Given the description of an element on the screen output the (x, y) to click on. 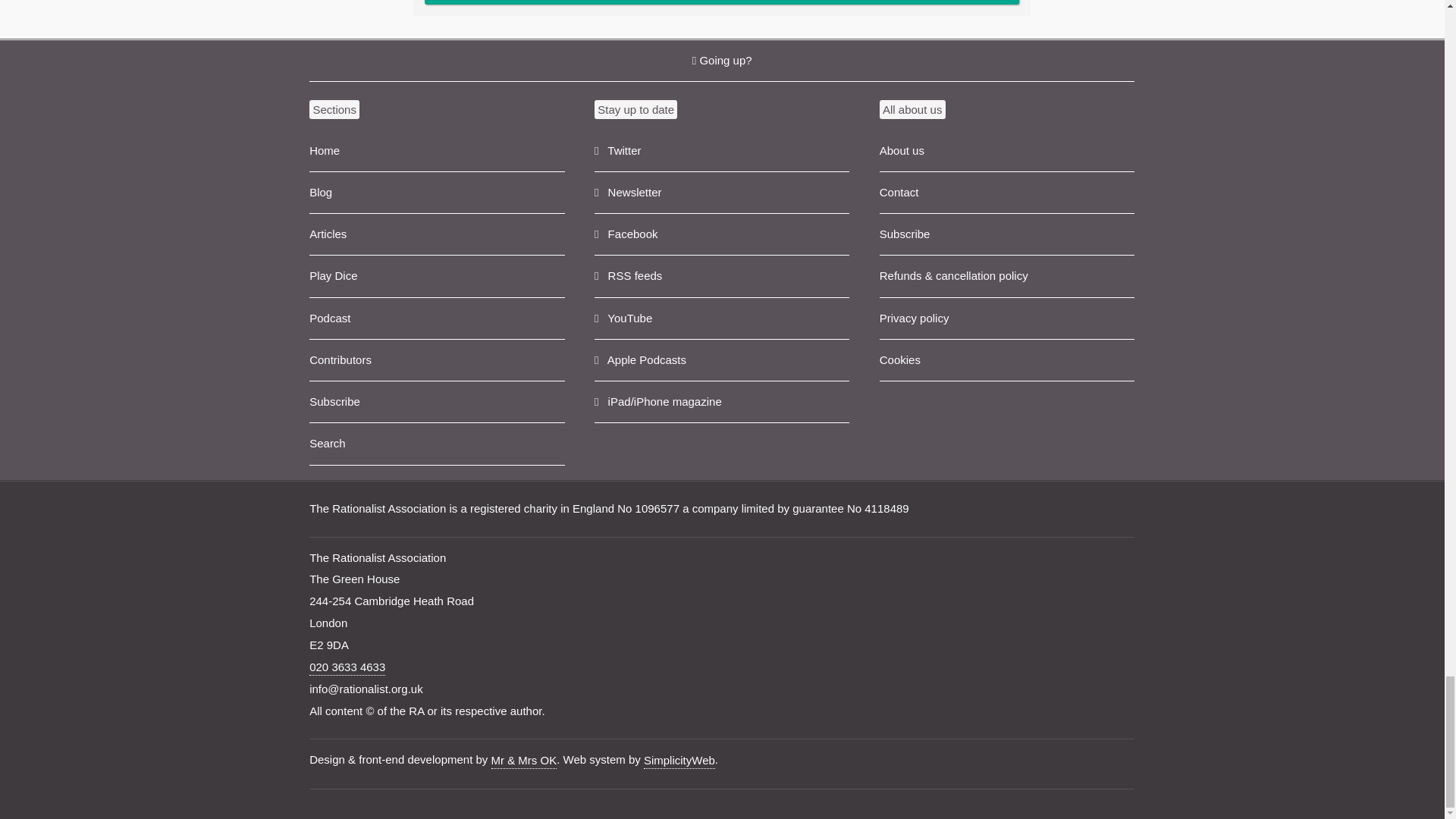
Podcast (436, 318)
About us (1006, 150)
Play Dice (436, 276)
Newsletter (721, 192)
Search (436, 444)
Articles (436, 234)
Home (436, 150)
RSS feeds (721, 276)
Contributors (436, 360)
Apple Podcasts (721, 360)
